Given the description of an element on the screen output the (x, y) to click on. 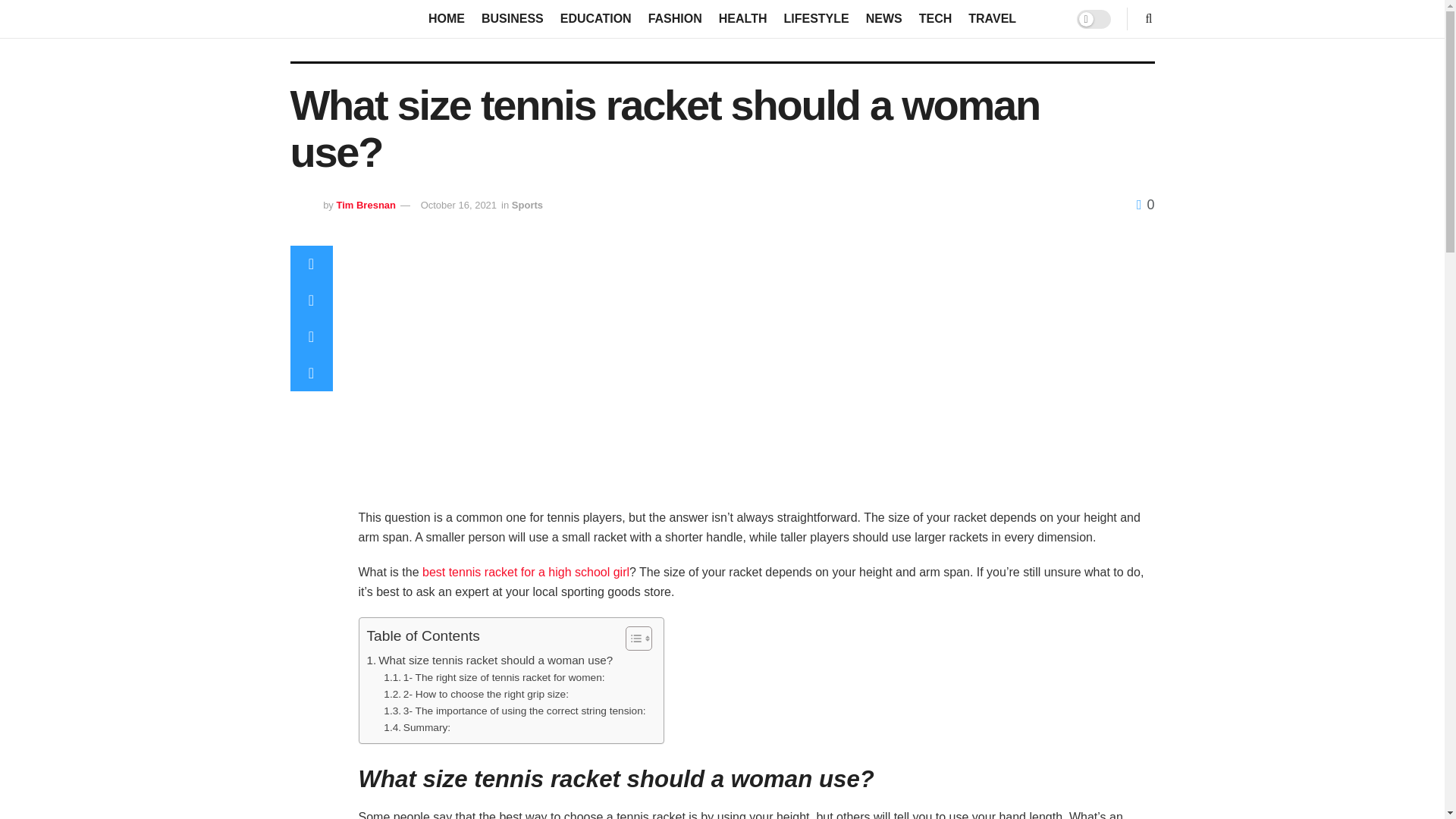
NEWS (884, 18)
What size tennis racket should a woman use? (489, 660)
Tim Bresnan (366, 204)
0 (1145, 204)
October 16, 2021 (458, 204)
TRAVEL (992, 18)
LIFESTYLE (815, 18)
HEALTH (743, 18)
EDUCATION (595, 18)
best tennis racket for a high school girl (525, 571)
FASHION (674, 18)
What size tennis racket should a woman use? (489, 660)
TECH (935, 18)
